Given the description of an element on the screen output the (x, y) to click on. 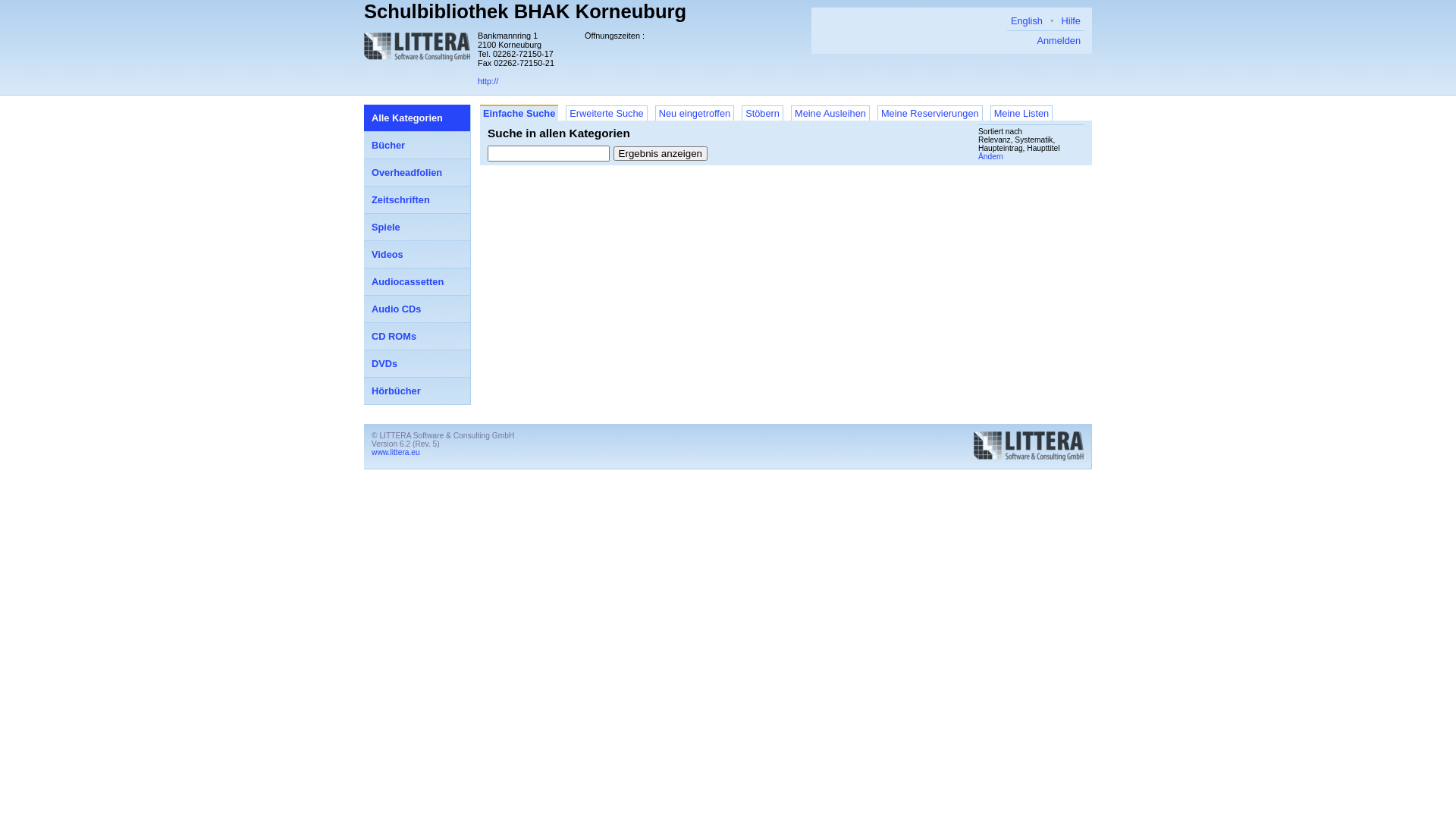
Hilfe Element type: text (1070, 21)
Ergebnis anzeigen Element type: text (660, 153)
Spiele Element type: text (417, 227)
Meine Reservierungen Element type: text (929, 112)
Meine Listen Element type: text (1021, 112)
English Element type: text (1026, 21)
Overheadfolien Element type: text (417, 172)
Audio CDs Element type: text (417, 309)
Videos Element type: text (417, 254)
CD ROMs Element type: text (417, 336)
DVDs Element type: text (417, 363)
www.littera.eu Element type: text (395, 452)
Alle Kategorien Element type: text (417, 117)
Erweiterte Suche Element type: text (605, 112)
Audiocassetten Element type: text (417, 281)
Einfache Suche Element type: text (519, 112)
Neu eingetroffen Element type: text (694, 112)
http:// Element type: text (487, 80)
Zeitschriften Element type: text (417, 199)
Meine Ausleihen Element type: text (829, 112)
Anmelden Element type: text (1058, 40)
Schulbibliothek BHAK Korneuburg Element type: text (525, 10)
